Given the description of an element on the screen output the (x, y) to click on. 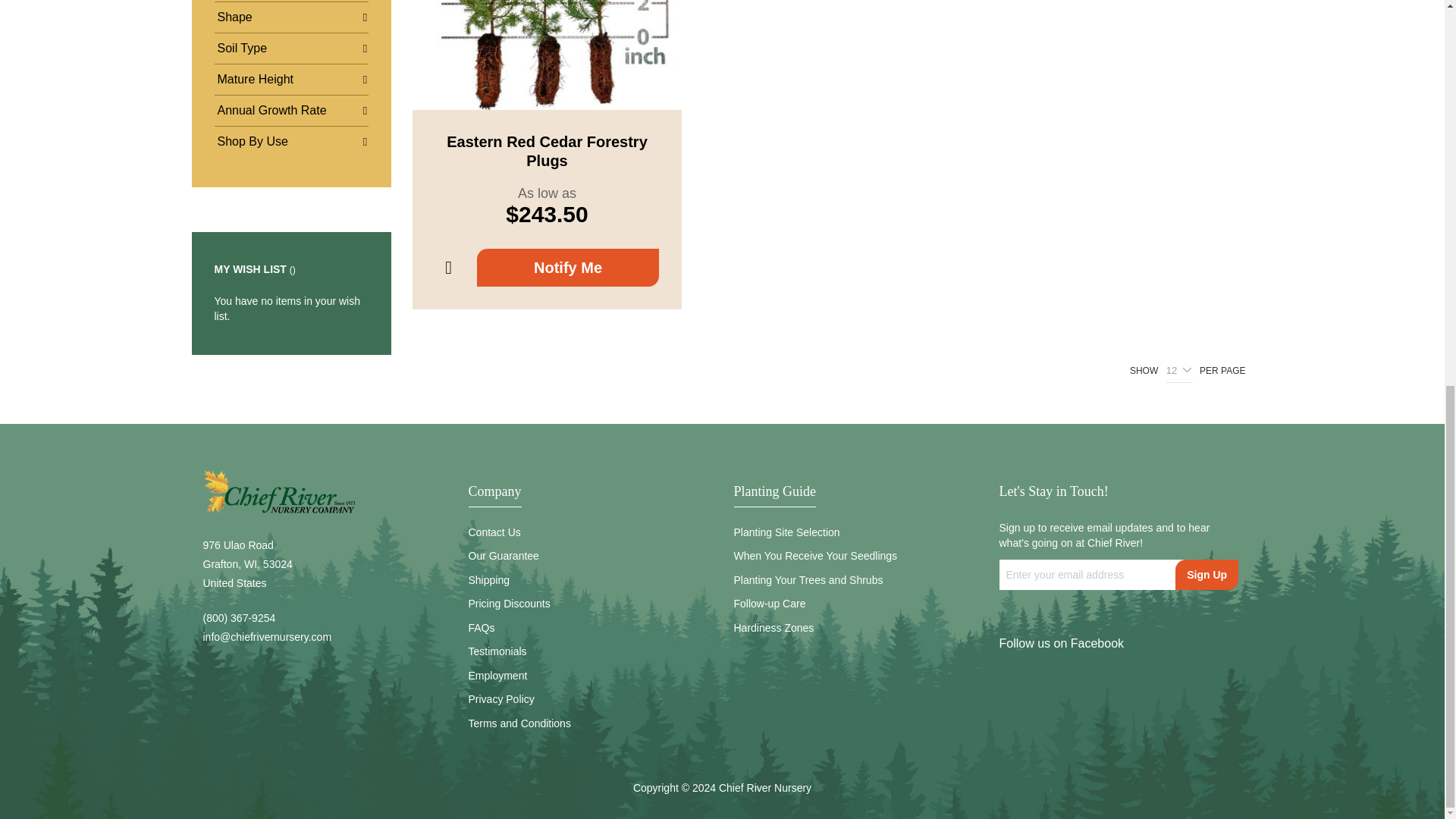
Subscribe (1206, 574)
Add to Wish List (448, 267)
